Given the description of an element on the screen output the (x, y) to click on. 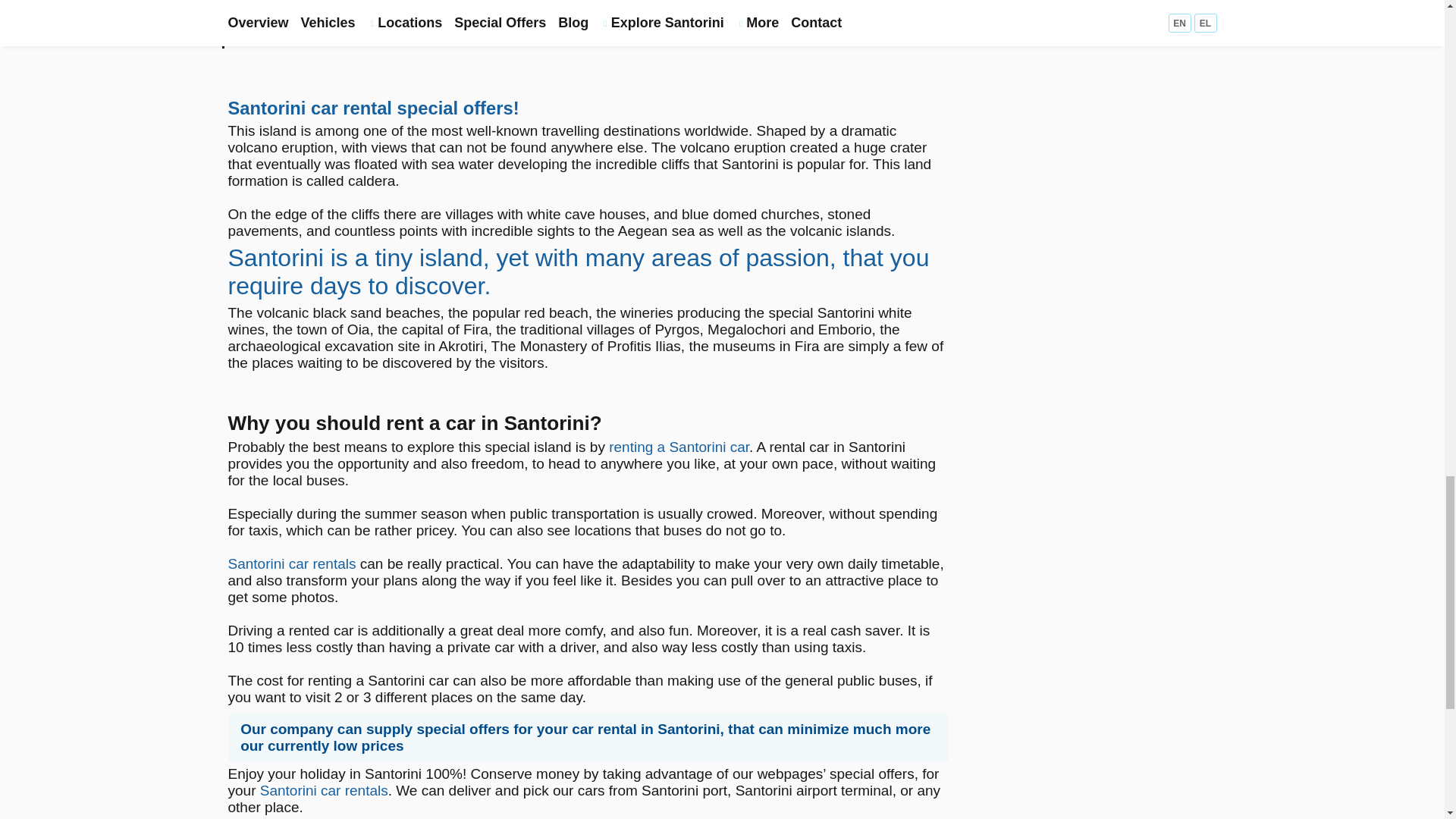
Santorini car rentals (324, 790)
Santorini car rentals (291, 563)
renting a Santorini car (678, 446)
